Given the description of an element on the screen output the (x, y) to click on. 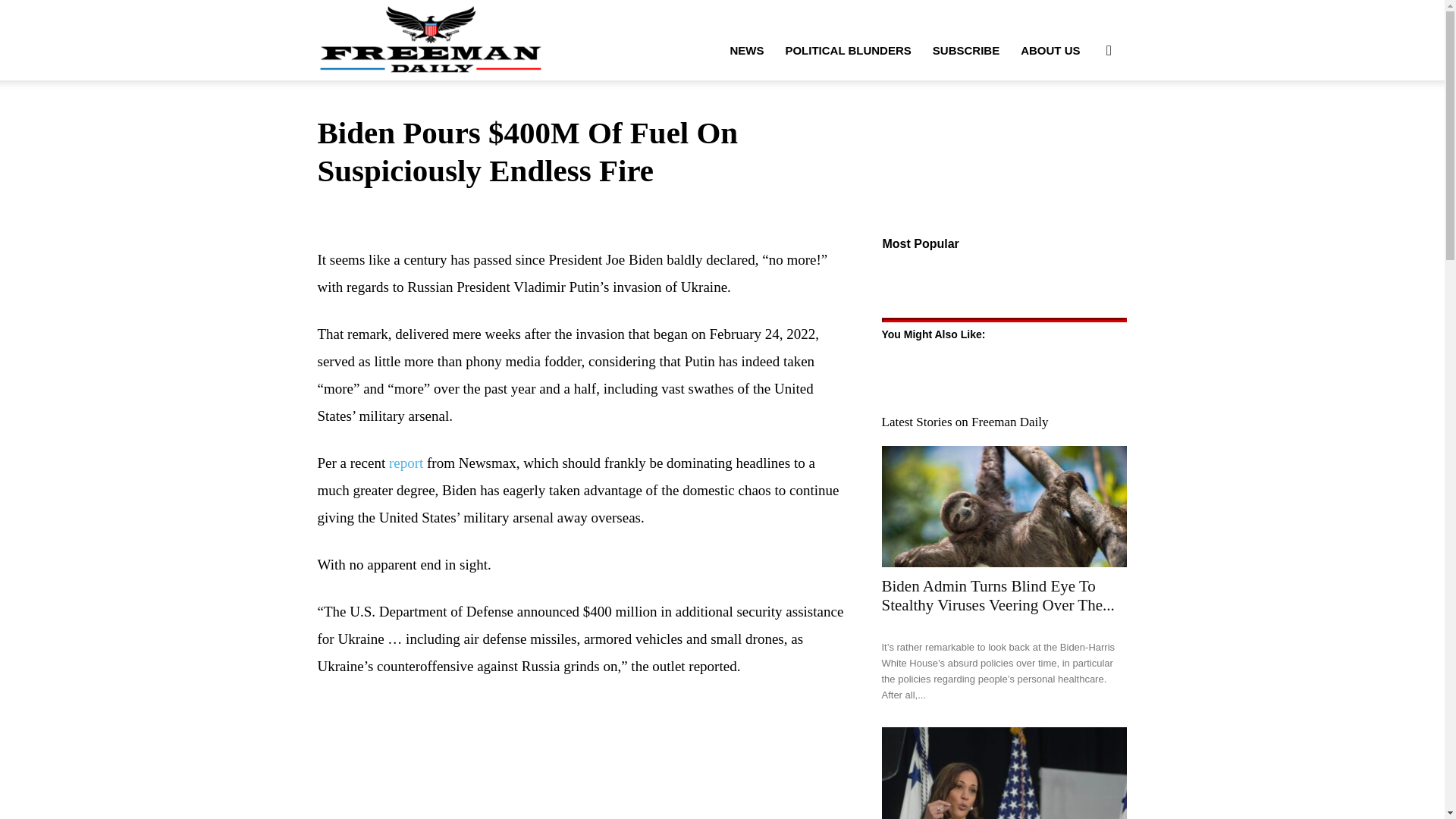
report (405, 462)
NEWS (746, 50)
Freeman Daily (430, 39)
Latest Stories on Freeman Daily (964, 422)
ABOUT US (1050, 50)
POLITICAL BLUNDERS (847, 50)
Search (1085, 122)
SUBSCRIBE (965, 50)
